Given the description of an element on the screen output the (x, y) to click on. 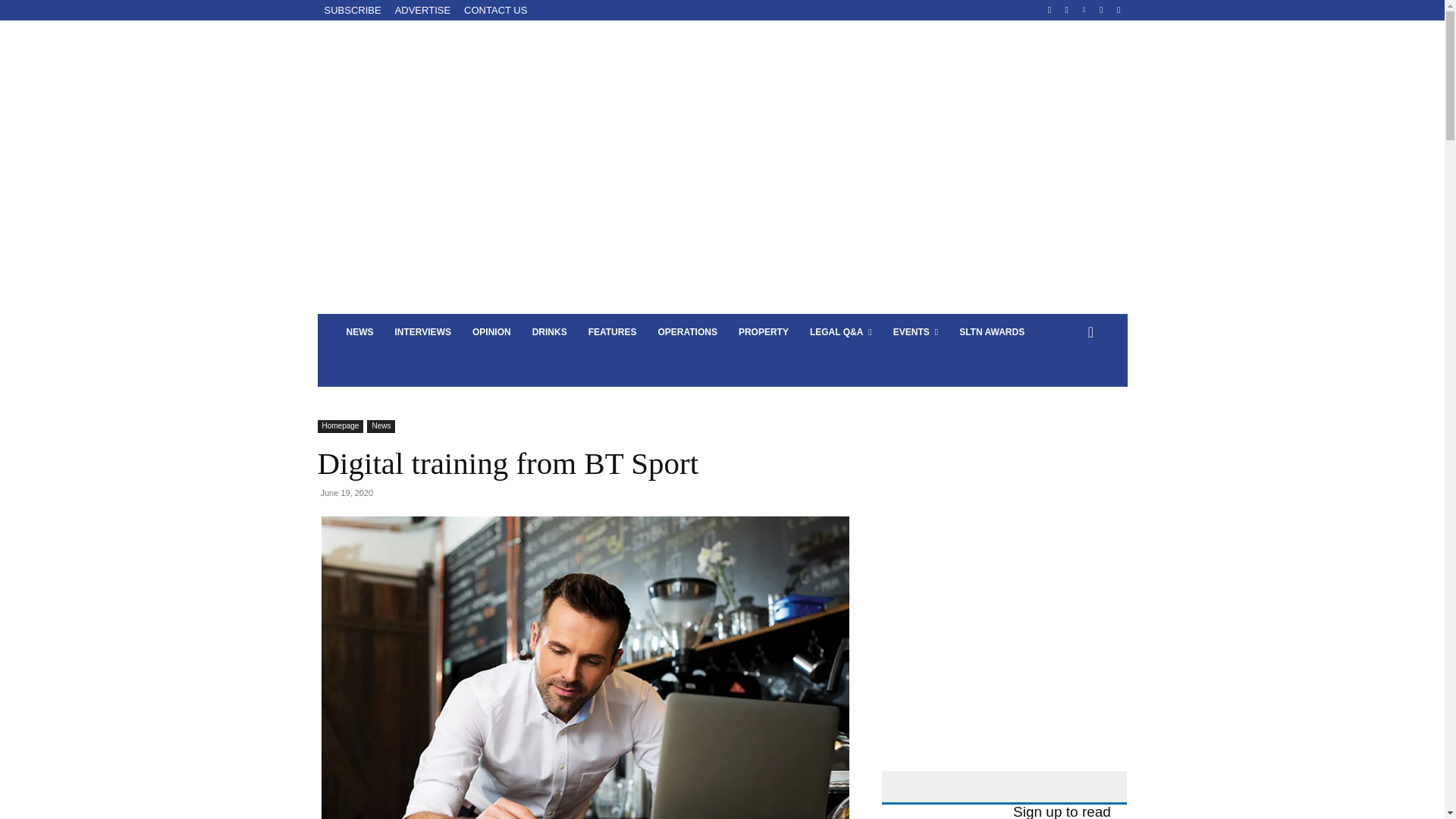
ADVERTISE (422, 12)
CONTACT US (495, 12)
Linkedin (1084, 9)
Scottish Licensed Trade News (439, 152)
Twitter (1101, 9)
Facebook (1049, 9)
Instagram (1066, 9)
SUBSCRIBE (352, 12)
Youtube (1117, 9)
